Given the description of an element on the screen output the (x, y) to click on. 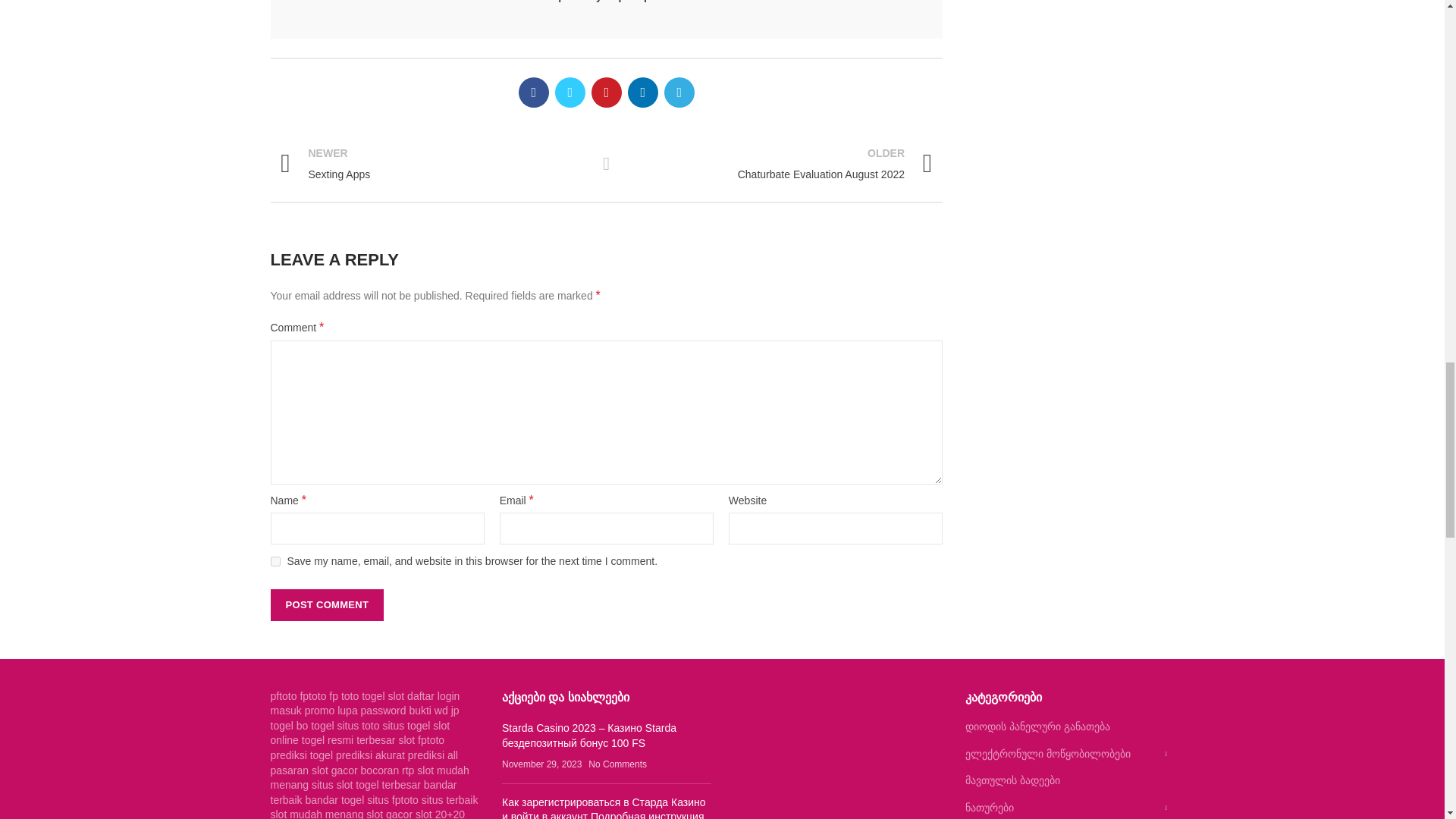
Post Comment (326, 604)
yes (274, 561)
